Given the description of an element on the screen output the (x, y) to click on. 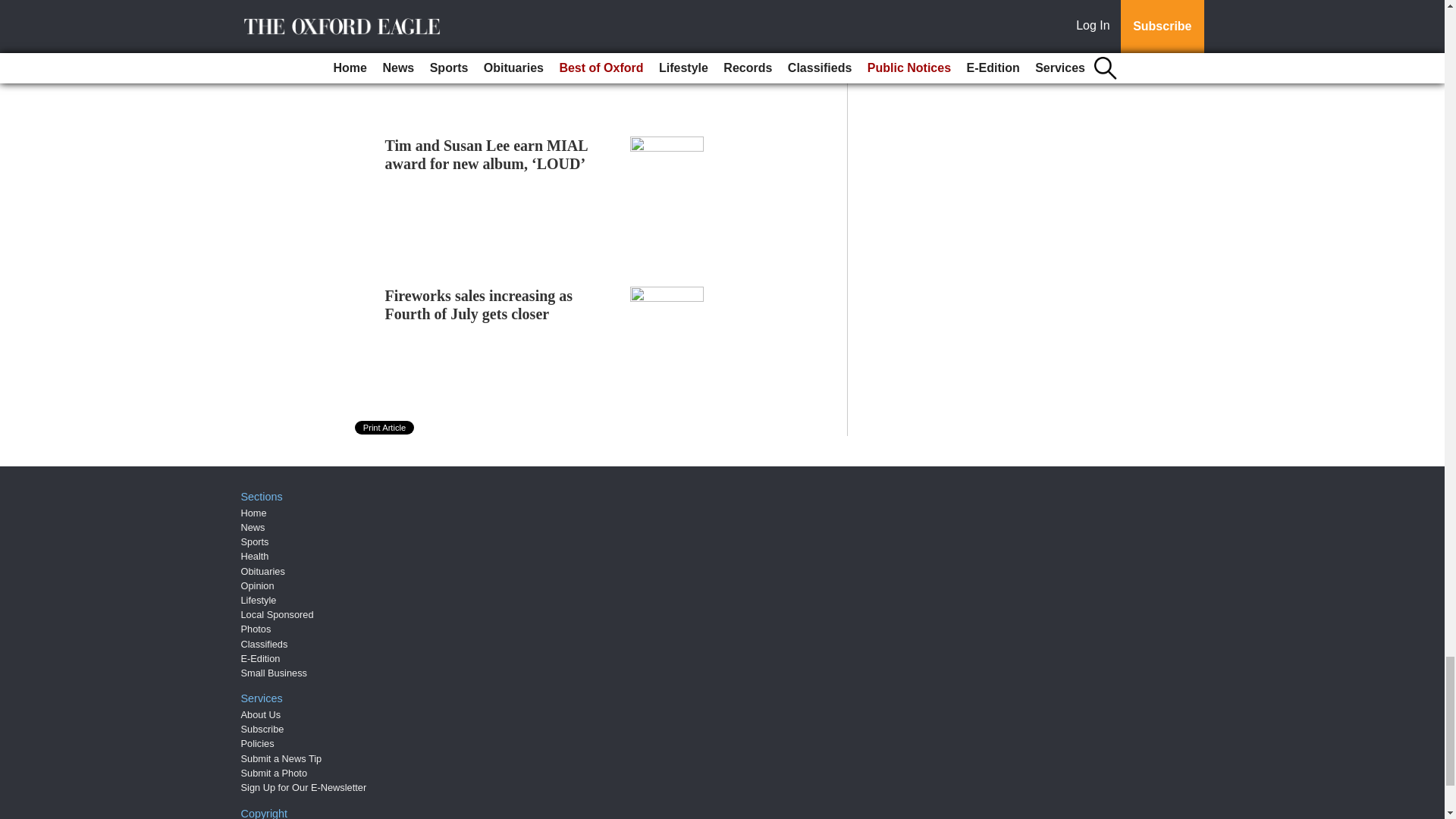
News (252, 527)
Home (253, 512)
Print Article (384, 427)
Fireworks sales increasing as Fourth of July gets closer (479, 304)
Fireworks sales increasing as Fourth of July gets closer (479, 304)
Sports (255, 541)
